Given the description of an element on the screen output the (x, y) to click on. 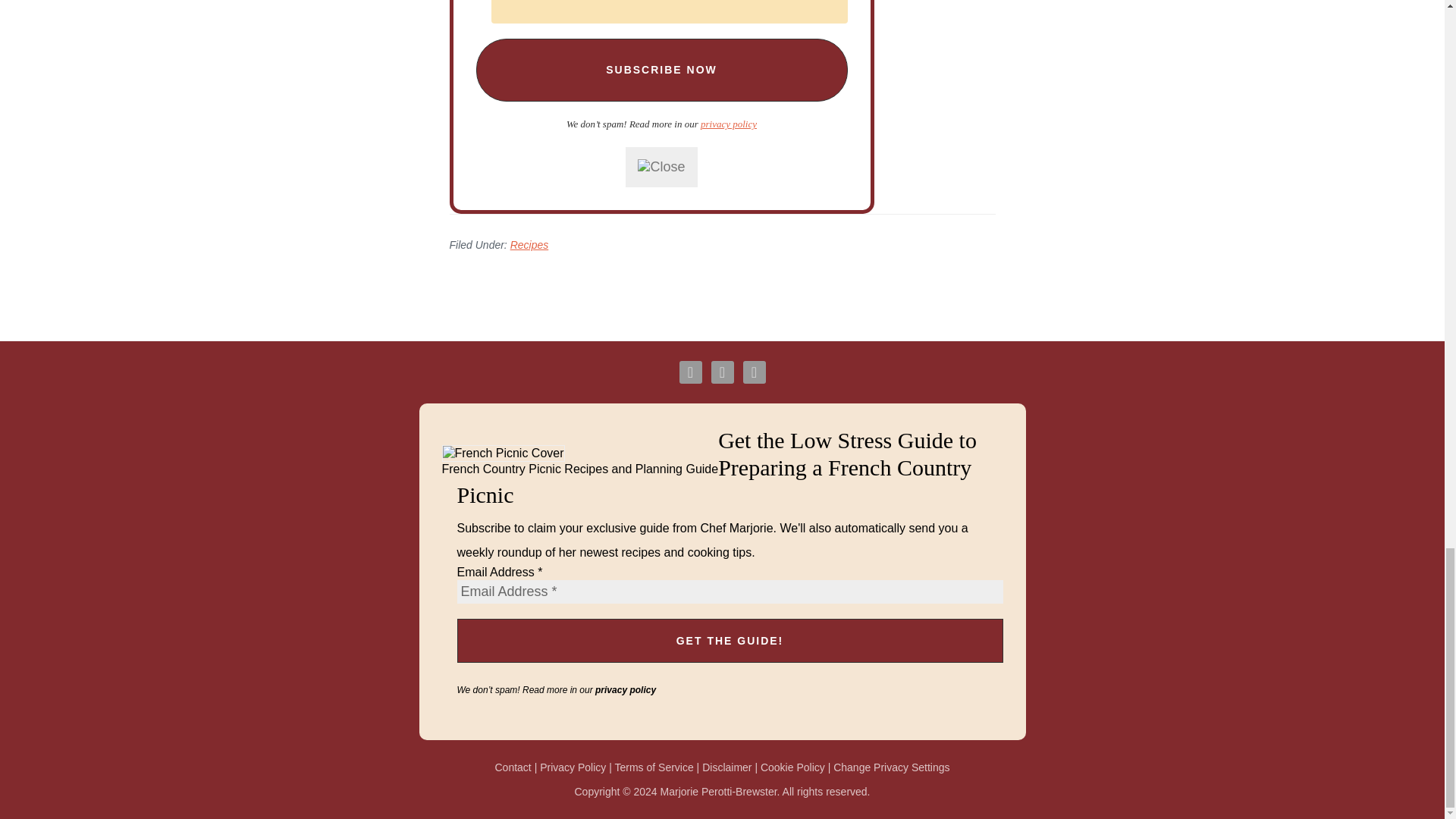
SUBSCRIBE NOW (661, 69)
Change Privacy Settings (890, 767)
Disclaimer (726, 767)
Recipes (529, 244)
Privacy Policy (572, 767)
Email Address (669, 12)
Pinterest (753, 372)
privacy policy (728, 123)
privacy policy (625, 689)
Get the Guide! (730, 640)
